Given the description of an element on the screen output the (x, y) to click on. 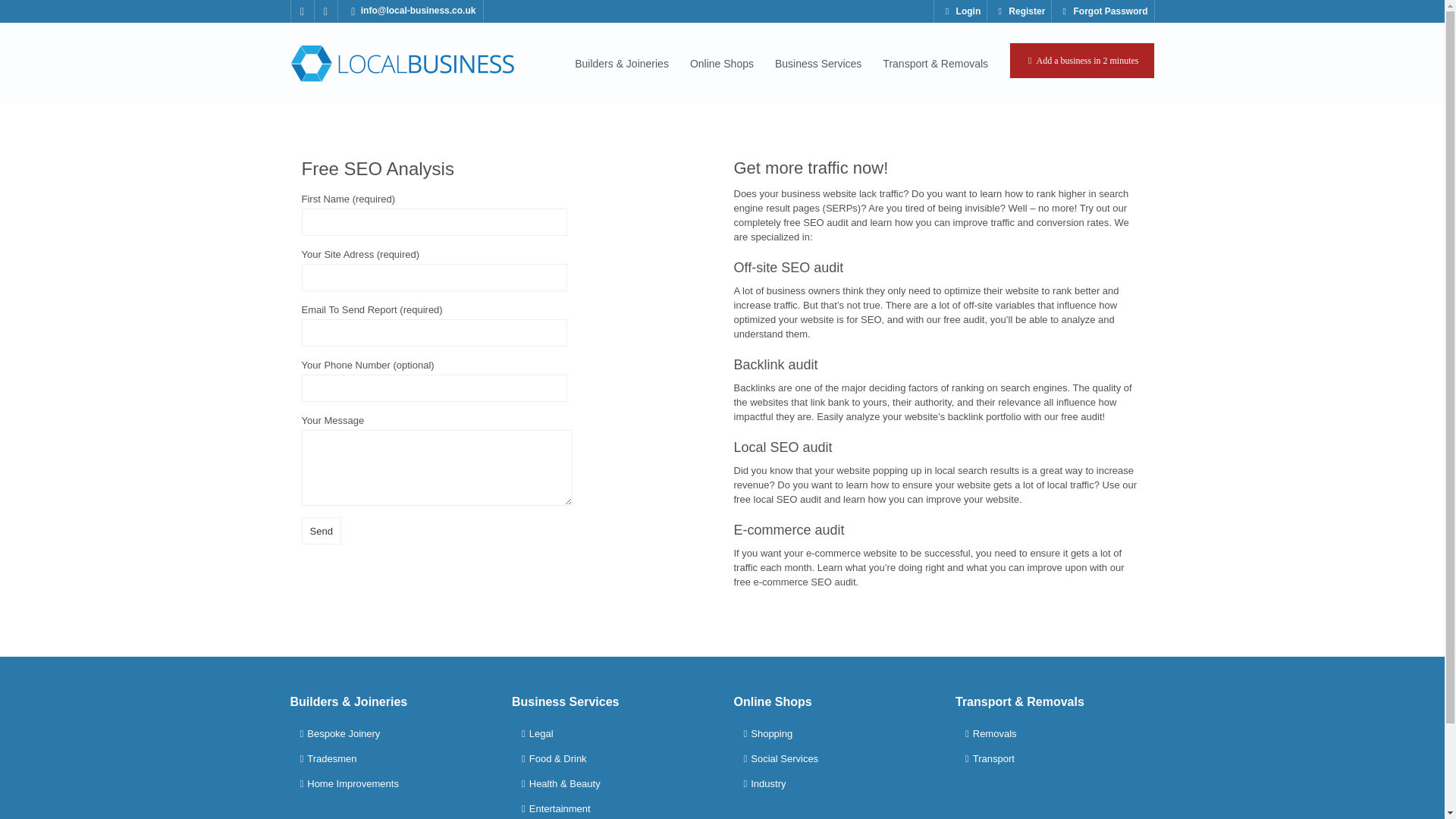
Forgot Password (1102, 11)
Send (320, 530)
Login (960, 11)
Register (1019, 11)
